Given the description of an element on the screen output the (x, y) to click on. 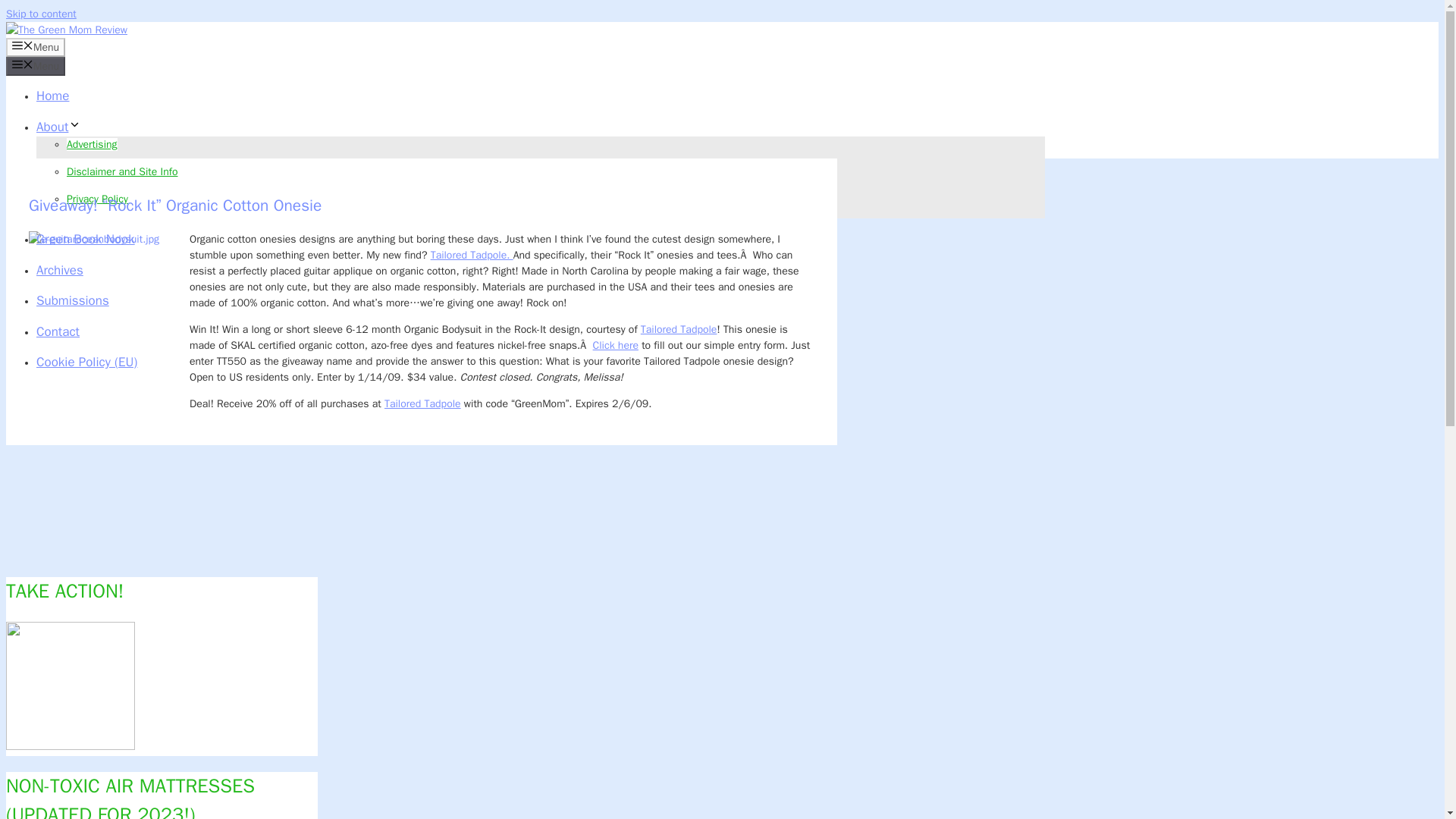
Skip to content (41, 13)
Menu (35, 46)
Disclaimer and Site Info (121, 171)
Tailored Tadpole (422, 403)
Advertising (91, 144)
Click here (615, 345)
Home (52, 95)
Contact (58, 330)
Privacy Policy (97, 198)
Tailored Tadpole (678, 328)
Menu (35, 66)
Skip to content (41, 13)
Tailored Tadpole. (471, 254)
About (58, 125)
Green Book Nook (85, 238)
